Given the description of an element on the screen output the (x, y) to click on. 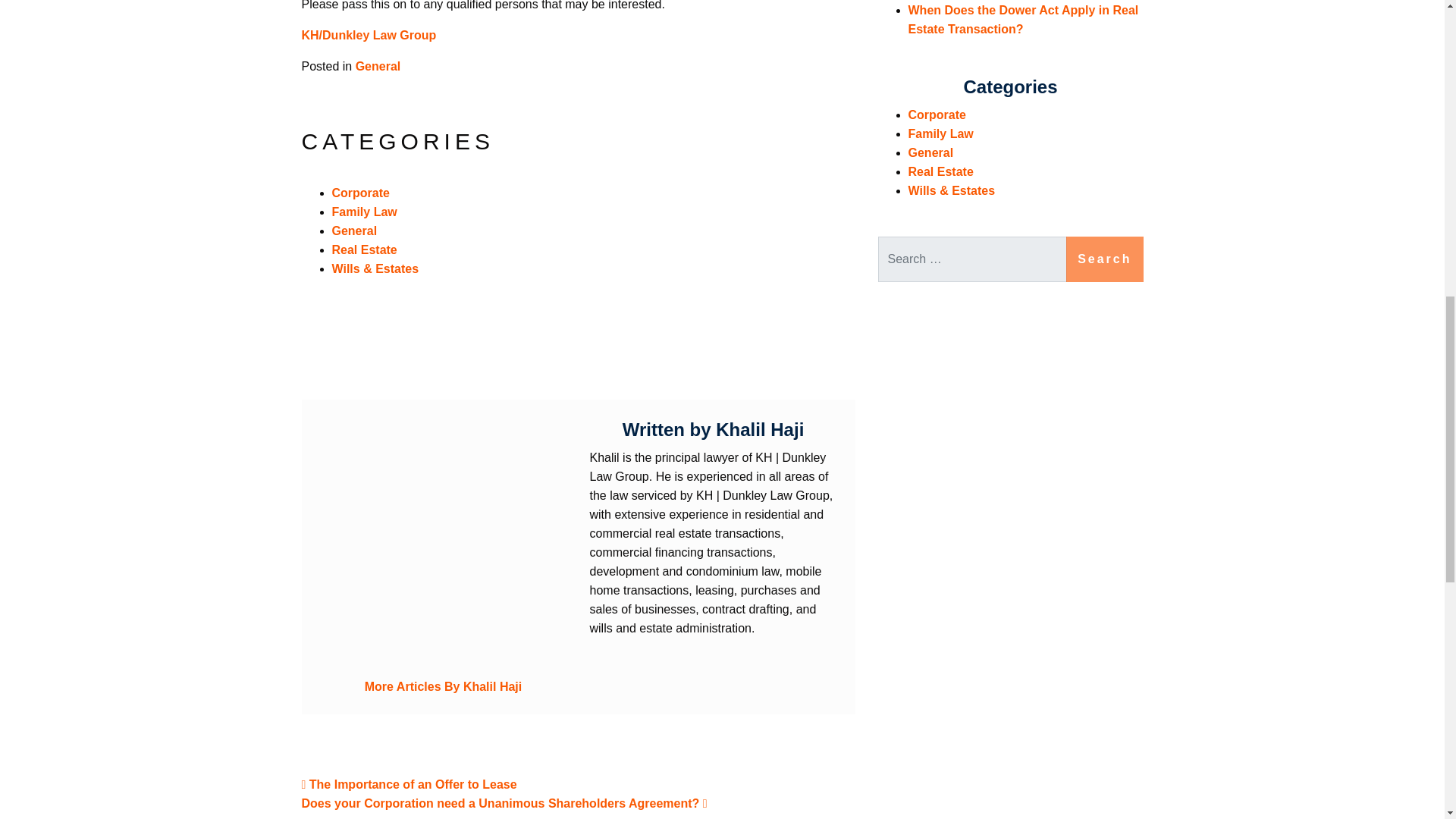
General (378, 65)
Family Law (941, 133)
More Articles By Khalil Haji (443, 686)
When Does the Dower Act Apply in Real Estate Transaction? (1023, 20)
 The Importance of an Offer to Lease (408, 784)
Corporate (360, 192)
General (354, 230)
Real Estate (364, 249)
Family Law (364, 211)
Corporate (937, 114)
